Given the description of an element on the screen output the (x, y) to click on. 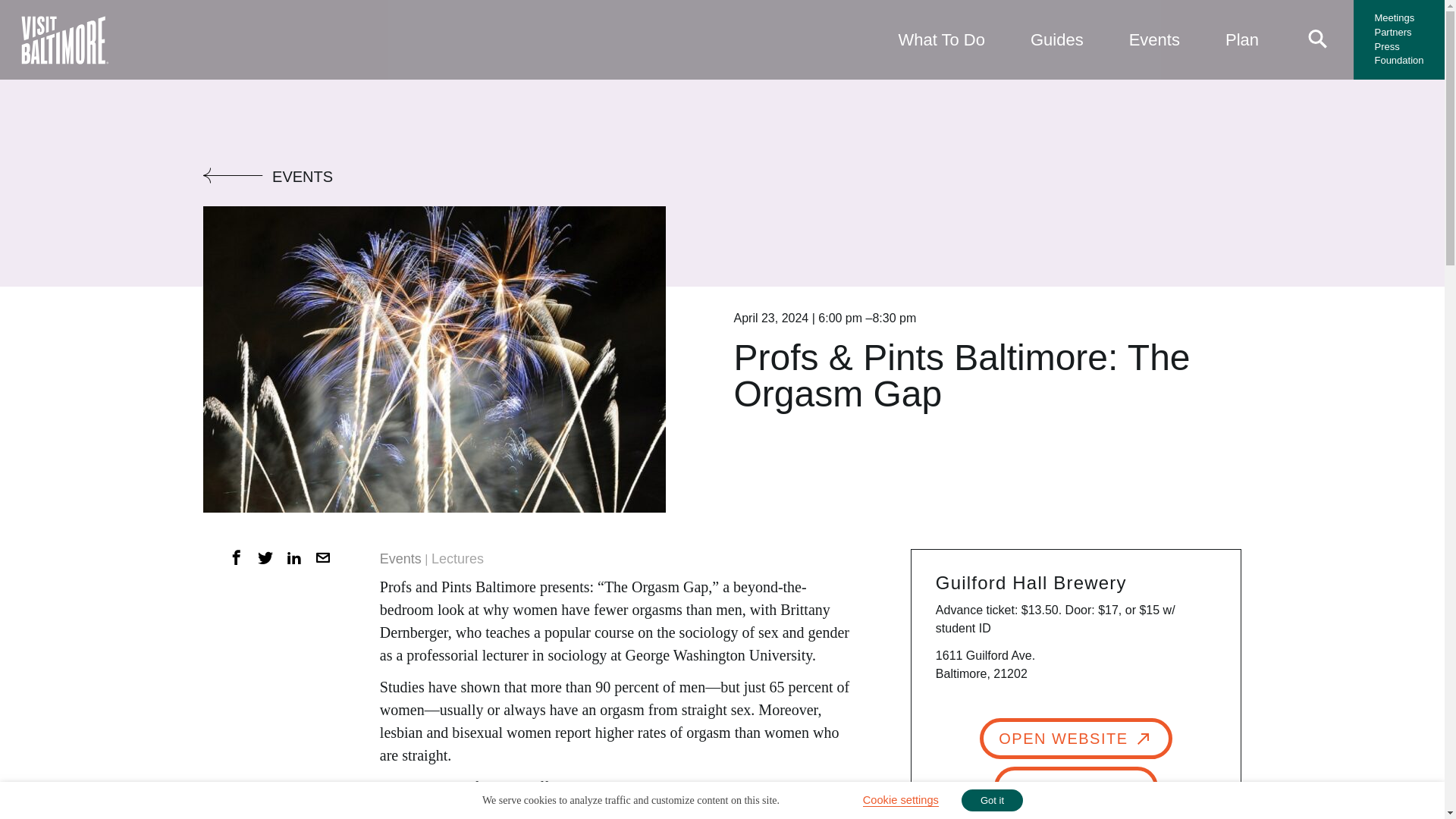
Primary Logo (64, 39)
Guides (1056, 39)
What To Do (941, 39)
